Given the description of an element on the screen output the (x, y) to click on. 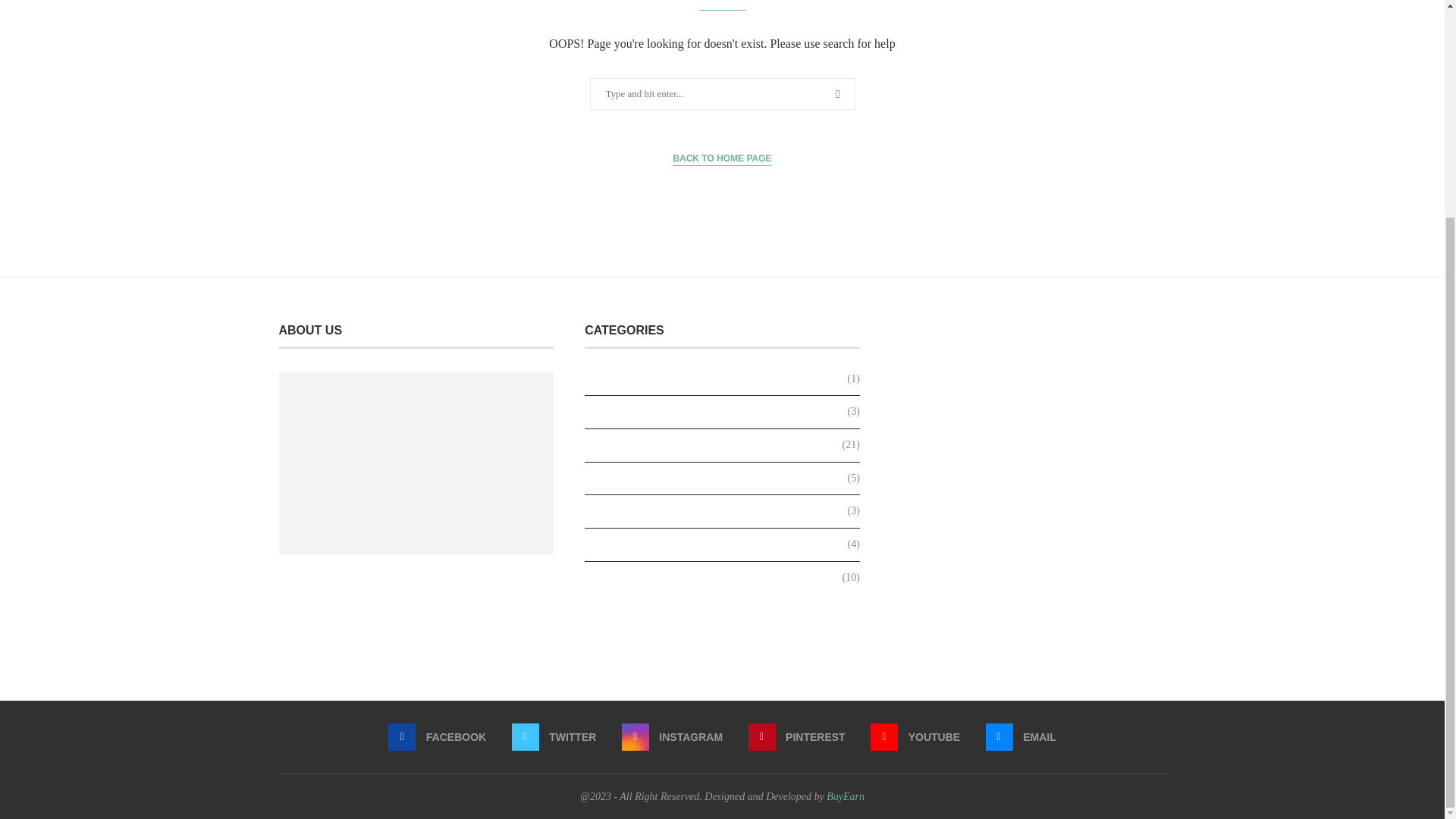
BACK TO HOME PAGE (721, 158)
BayEarn (845, 796)
YOUTUBE (914, 737)
FACEBOOK (437, 737)
EMAIL (1021, 737)
INSTAGRAM (671, 737)
TWITTER (554, 737)
PINTEREST (796, 737)
